Given the description of an element on the screen output the (x, y) to click on. 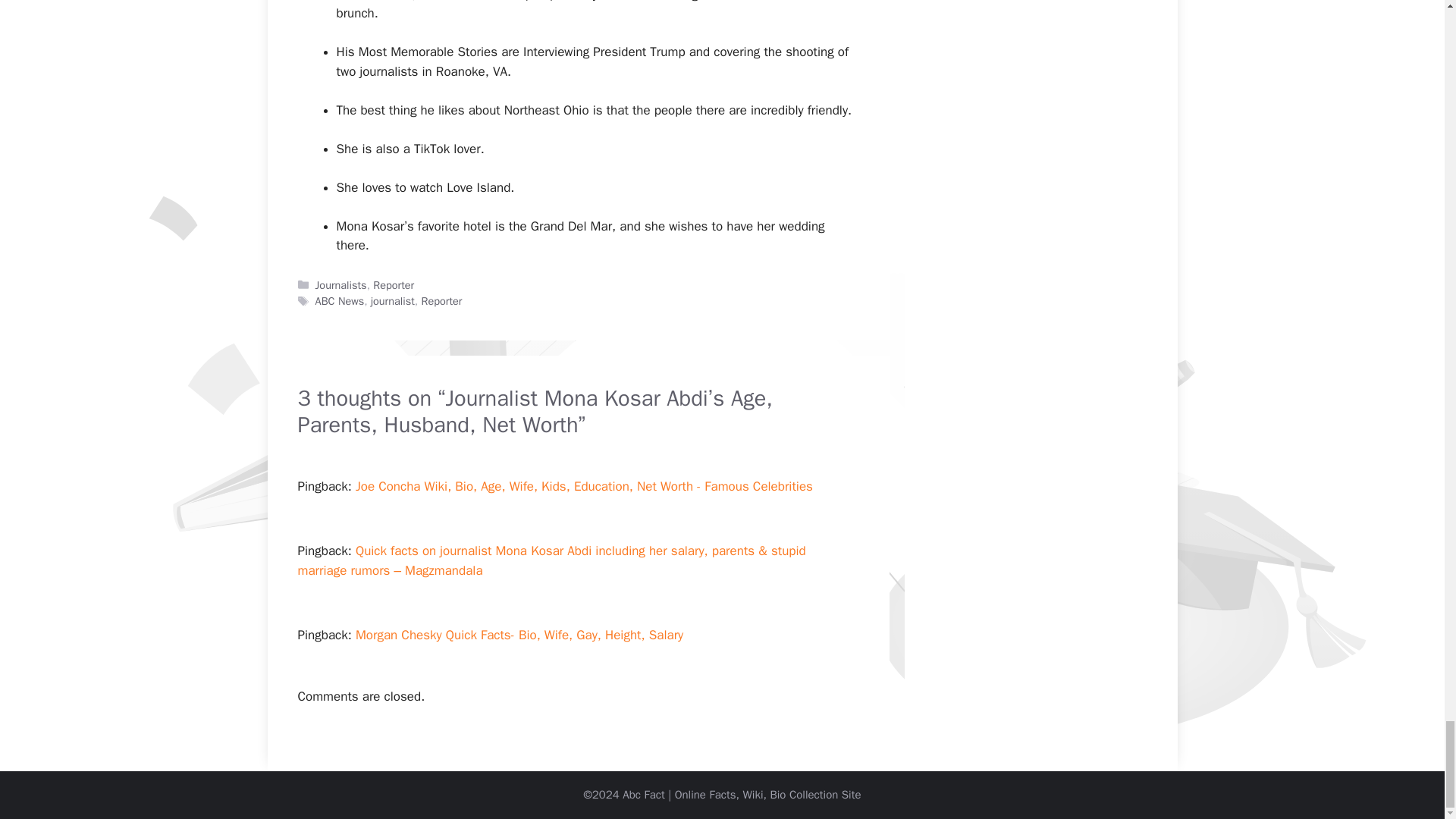
journalist (392, 300)
Journalists (340, 284)
Reporter (440, 300)
Reporter (392, 284)
ABC News (340, 300)
